Given the description of an element on the screen output the (x, y) to click on. 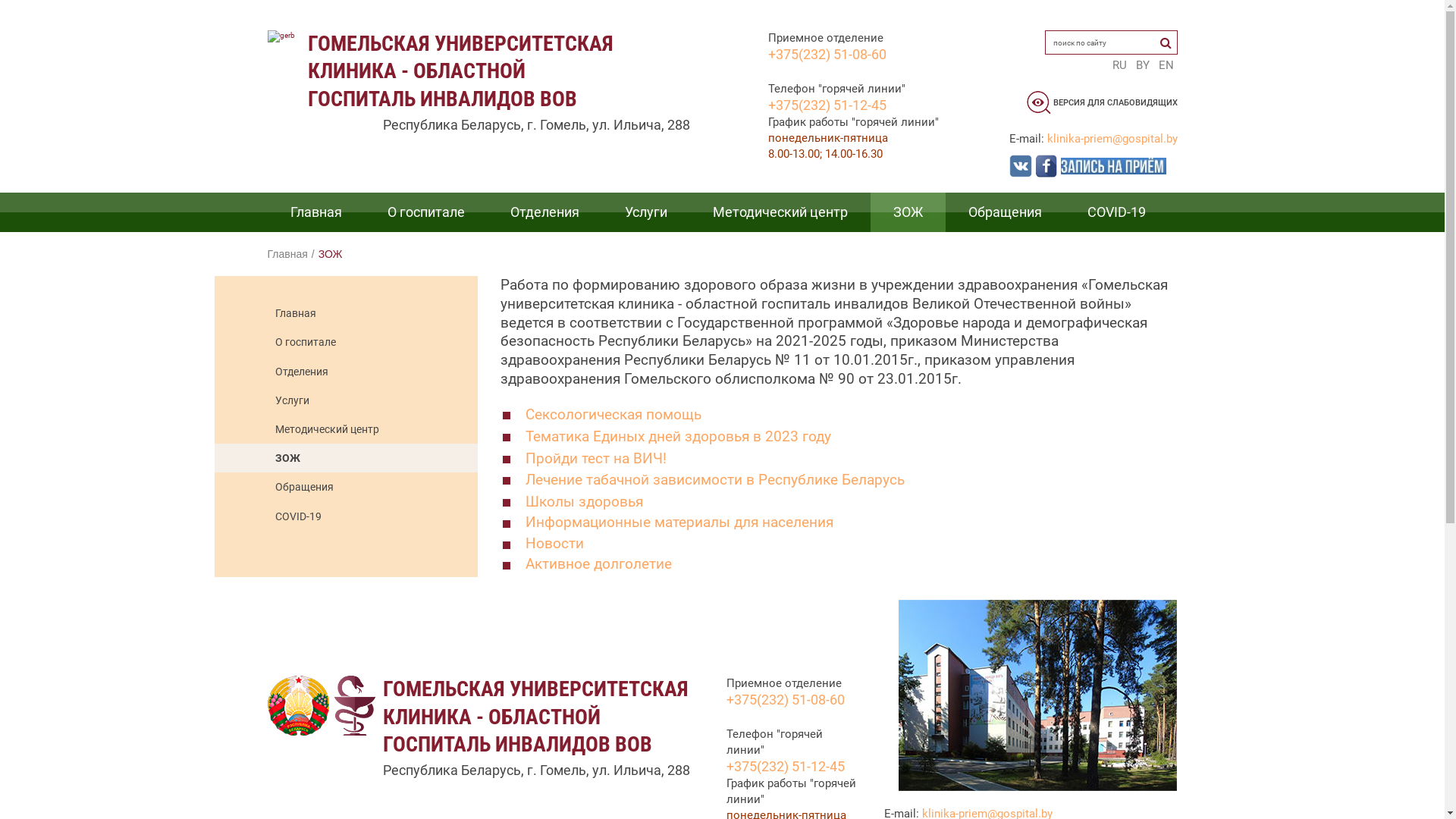
  Element type: text (1099, 165)
COVID-19 Element type: text (371, 516)
+375(232) 51-12-45 Element type: text (785, 766)
klinika-priem@gospital.by Element type: text (1111, 138)
+375(232) 51-12-45 Element type: text (826, 104)
EN Element type: text (1165, 64)
+375(232) 51-08-60 Element type: text (785, 707)
+375(232) 51-08-60 Element type: text (826, 62)
RU Element type: text (1119, 64)
BY Element type: text (1141, 64)
COVID-19 Element type: text (1116, 212)
